Given the description of an element on the screen output the (x, y) to click on. 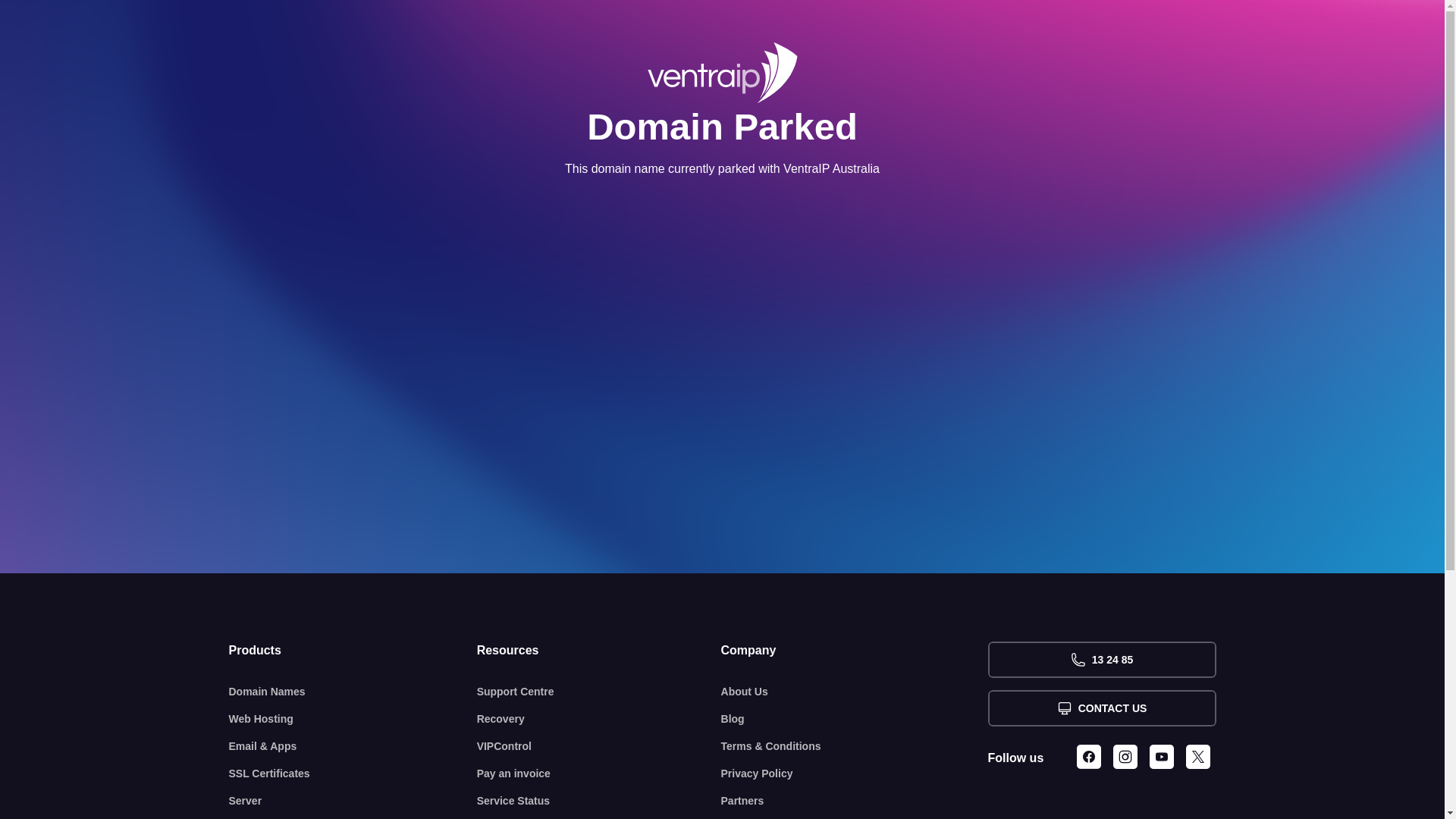
Service Status Element type: text (598, 800)
Domain Names Element type: text (352, 691)
Email & Apps Element type: text (352, 745)
Privacy Policy Element type: text (854, 773)
Support Centre Element type: text (598, 691)
13 24 85 Element type: text (1101, 659)
Terms & Conditions Element type: text (854, 745)
Blog Element type: text (854, 718)
CONTACT US Element type: text (1101, 708)
Pay an invoice Element type: text (598, 773)
VIPControl Element type: text (598, 745)
Server Element type: text (352, 800)
SSL Certificates Element type: text (352, 773)
Recovery Element type: text (598, 718)
Partners Element type: text (854, 800)
About Us Element type: text (854, 691)
Web Hosting Element type: text (352, 718)
